Given the description of an element on the screen output the (x, y) to click on. 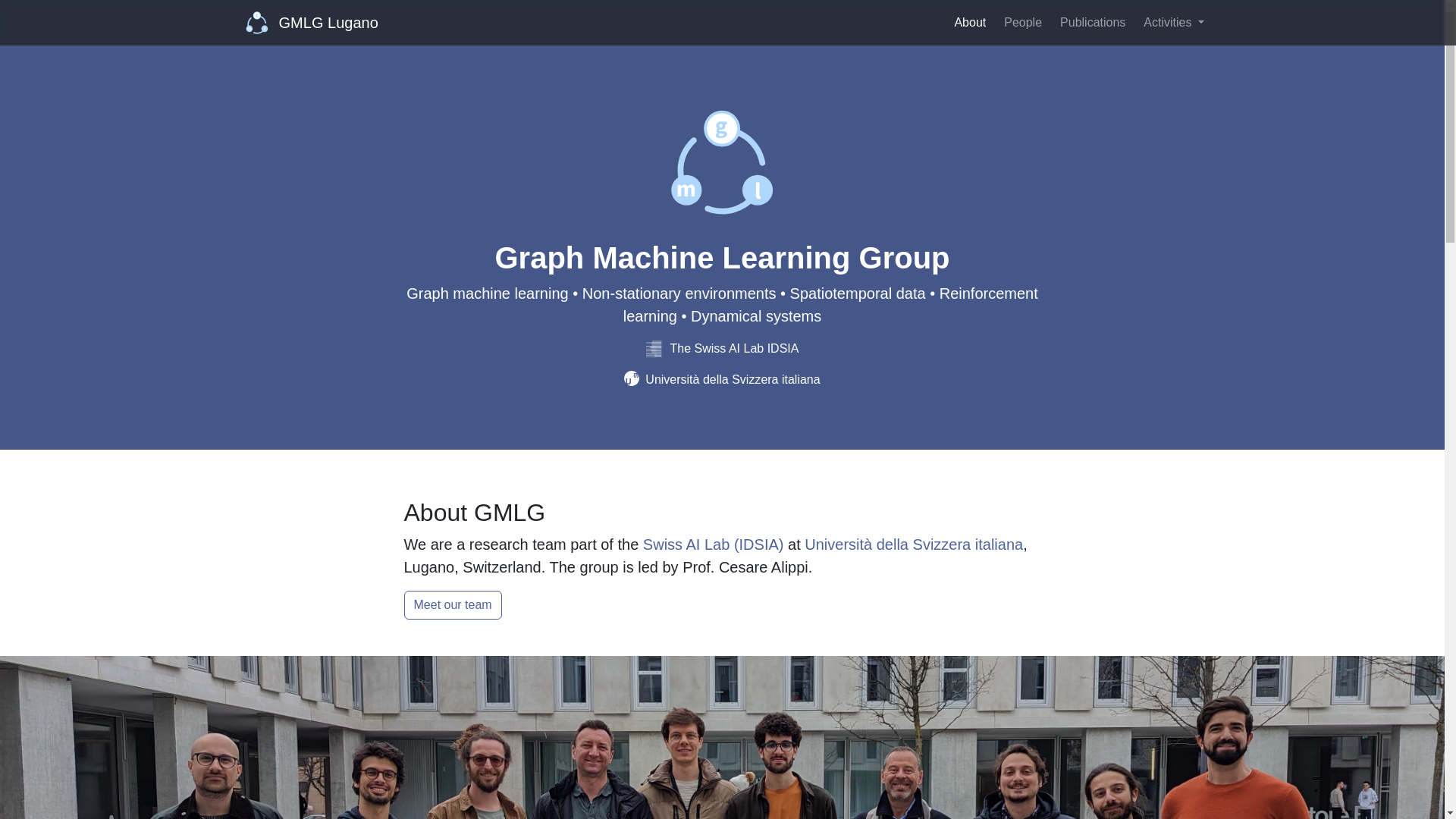
Publications (1092, 22)
Meet our team (451, 604)
GMLG Lugano (312, 22)
The Swiss AI Lab IDSIA (722, 348)
Activities (1173, 22)
About (969, 22)
People (1022, 22)
